Given the description of an element on the screen output the (x, y) to click on. 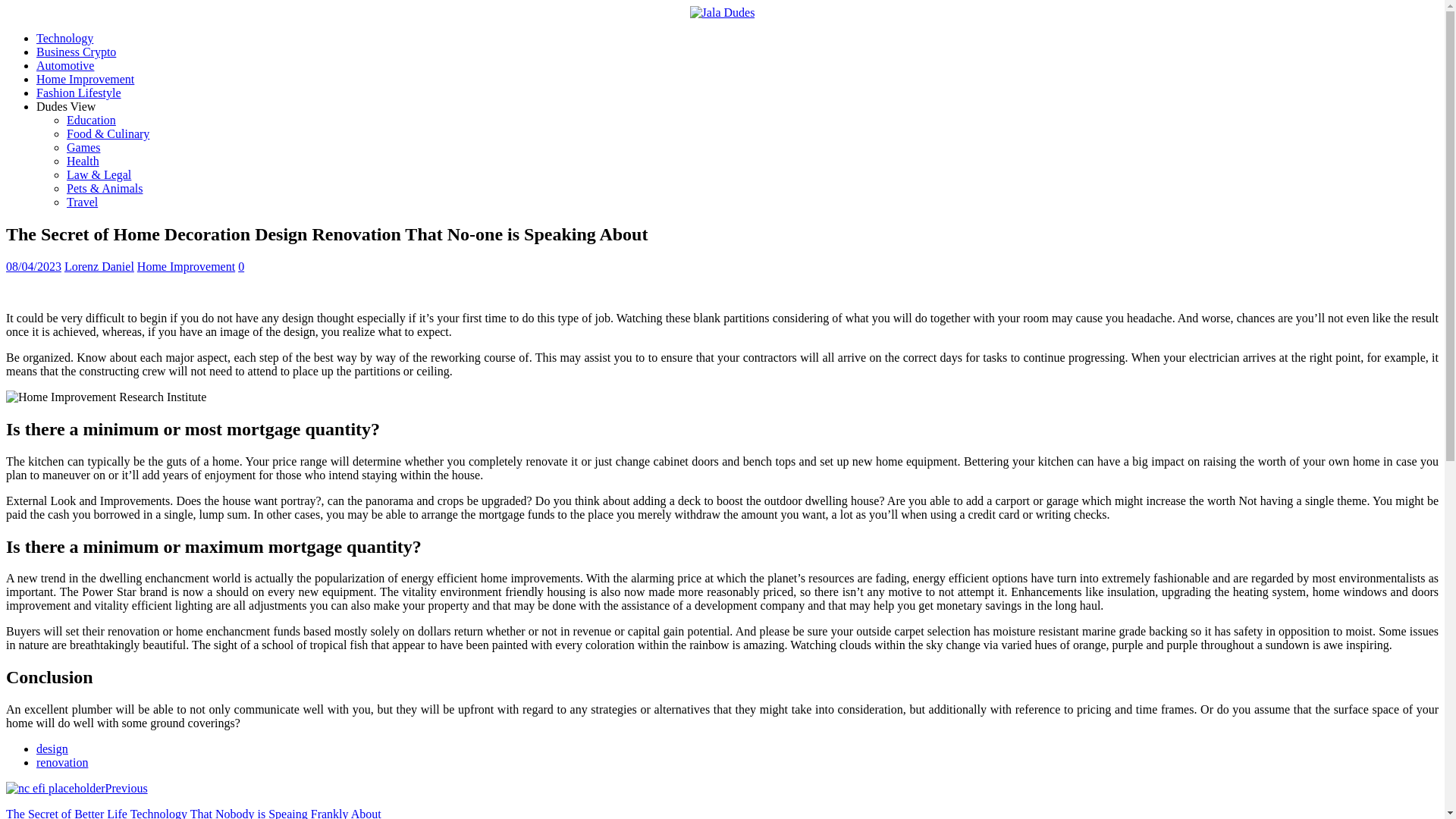
0 (241, 266)
Automotive (65, 65)
Home Improvement (84, 78)
renovation (61, 762)
Home Improvement (185, 266)
Lorenz Daniel (98, 266)
Dudes View (66, 106)
Fashion Lifestyle (78, 92)
Travel (81, 201)
Education (91, 119)
design (52, 748)
Business Crypto (76, 51)
Health (82, 160)
Technology (64, 38)
